Given the description of an element on the screen output the (x, y) to click on. 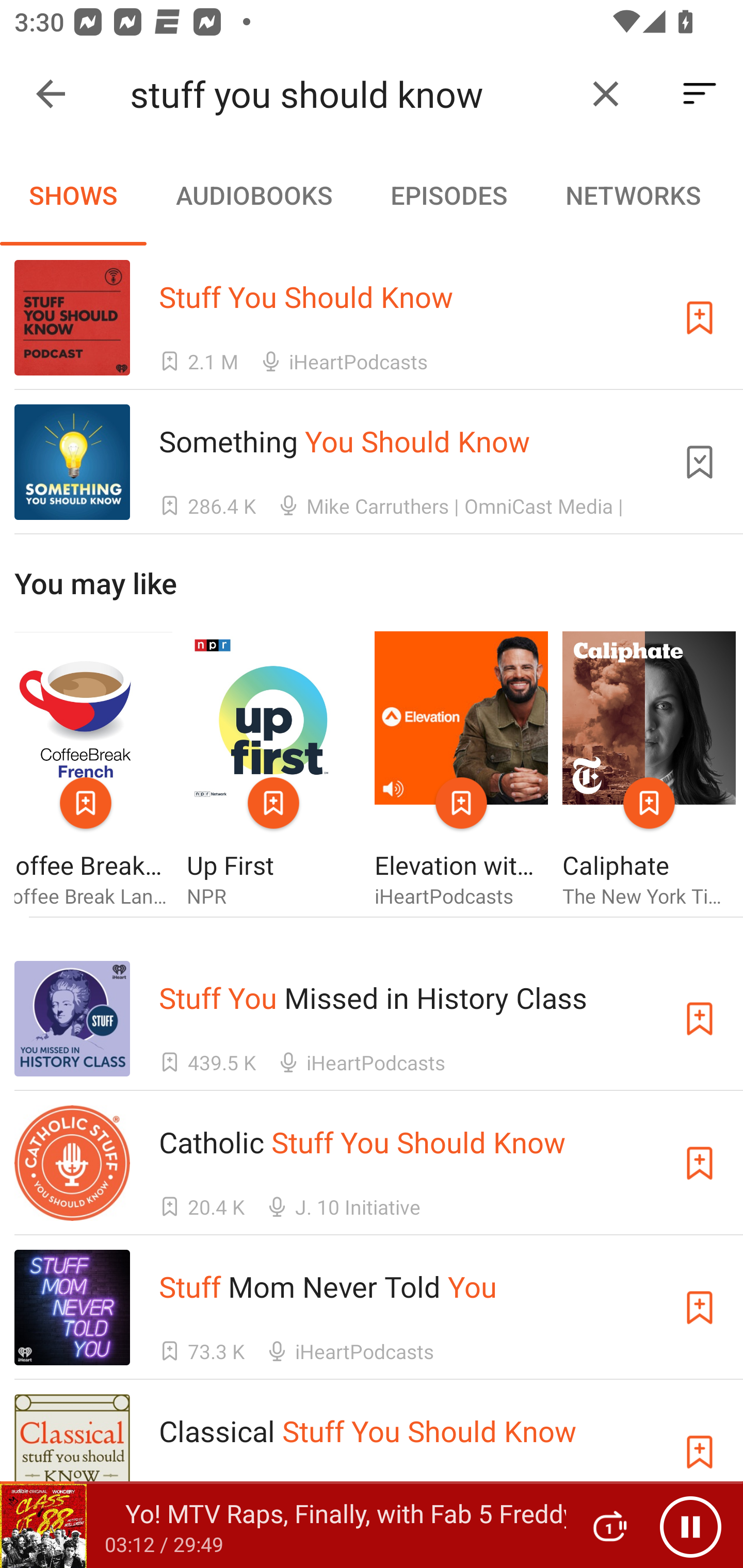
Collapse (50, 93)
Clear query (605, 93)
Sort By (699, 93)
stuff you should know (349, 94)
SHOWS (73, 195)
AUDIOBOOKS (253, 195)
EPISODES (448, 195)
NETWORKS (632, 195)
Subscribe (699, 317)
Unsubscribe (699, 462)
Coffee Break French Coffee Break Languages (93, 770)
Up First NPR (273, 770)
Elevation with Steven Furtick iHeartPodcasts (461, 770)
Caliphate The New York Times (648, 770)
Subscribe (699, 1019)
Subscribe (699, 1163)
Subscribe (699, 1307)
Subscribe (699, 1451)
Pause (690, 1526)
